Given the description of an element on the screen output the (x, y) to click on. 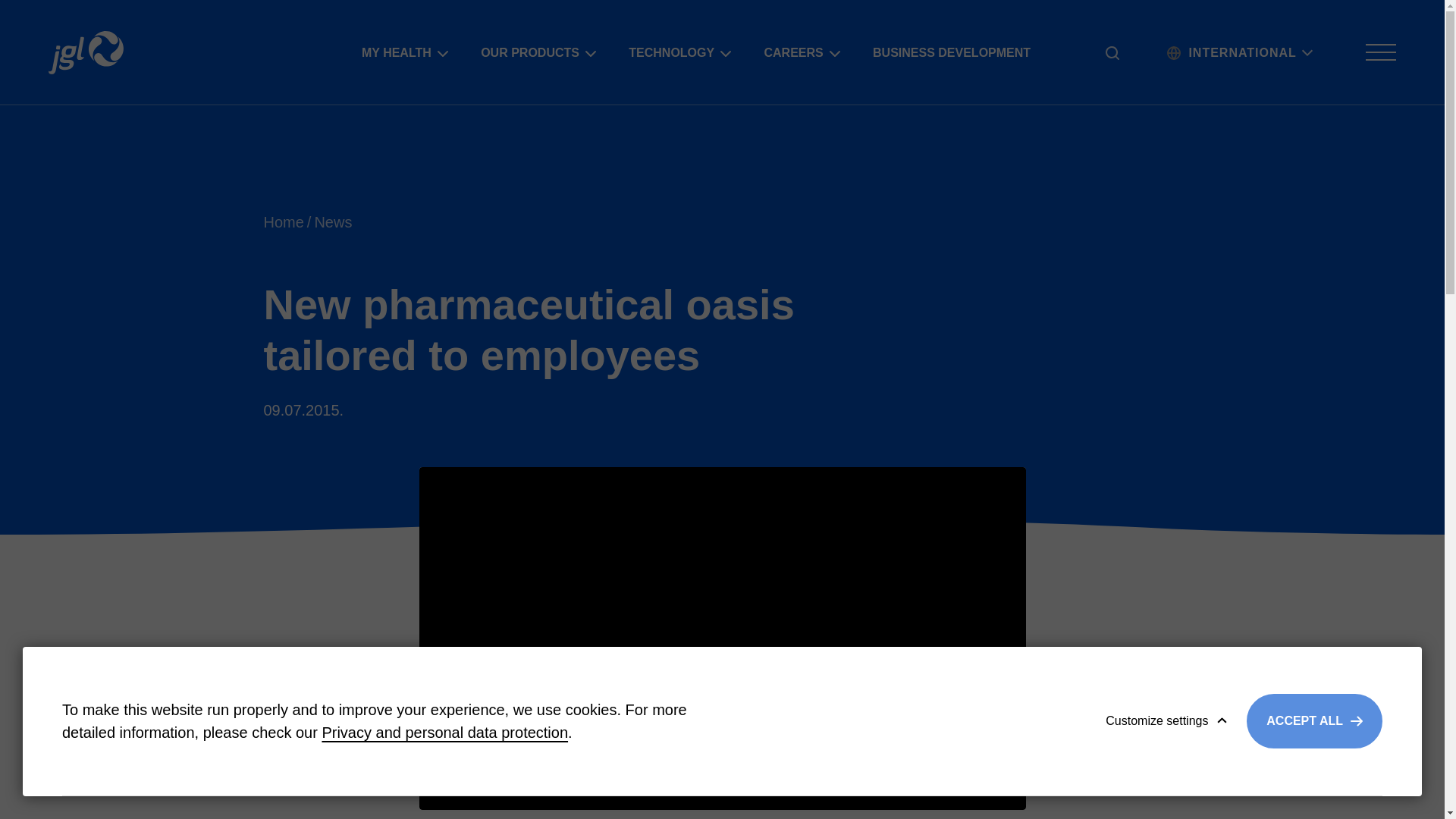
JGL (85, 52)
INTERNATIONAL  (1248, 52)
BUSINESS DEVELOPMENT (956, 52)
Business Development (956, 52)
